Given the description of an element on the screen output the (x, y) to click on. 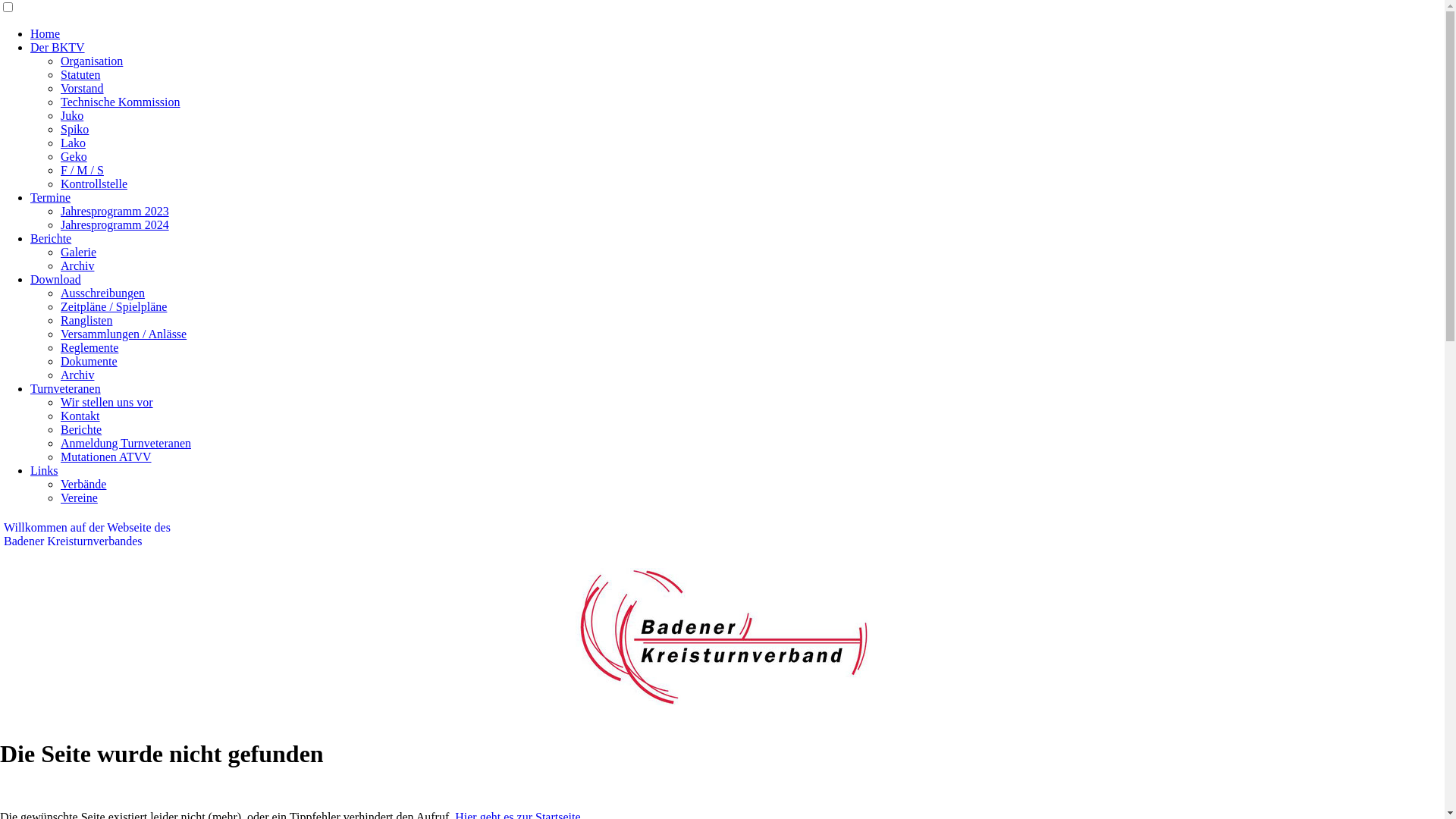
Vereine Element type: text (78, 497)
Anmeldung Turnveteranen Element type: text (125, 442)
Turnveteranen Element type: text (65, 388)
Berichte Element type: text (80, 429)
Technische Kommission Element type: text (120, 101)
Vorstand Element type: text (81, 87)
Organisation Element type: text (91, 60)
Jahresprogramm 2024 Element type: text (114, 224)
Kontrollstelle Element type: text (93, 183)
F / M / S Element type: text (81, 169)
Ranglisten Element type: text (86, 319)
Statuten Element type: text (80, 74)
Mutationen ATVV Element type: text (105, 456)
Spiko Element type: text (74, 128)
Reglemente Element type: text (89, 347)
Download Element type: text (55, 279)
Wir stellen uns vor Element type: text (106, 401)
Kontakt Element type: text (80, 415)
Dokumente Element type: text (88, 360)
Ausschreibungen Element type: text (102, 292)
Der BKTV Element type: text (57, 46)
Jahresprogramm 2023 Element type: text (114, 210)
Geko Element type: text (73, 156)
Archiv Element type: text (77, 265)
Lako Element type: text (72, 142)
Galerie Element type: text (78, 251)
Links Element type: text (43, 470)
Home Element type: text (44, 33)
Termine Element type: text (50, 197)
Juko Element type: text (71, 115)
Archiv Element type: text (77, 374)
Berichte Element type: text (50, 238)
Willkommen auf der Webseite des
Badener Kreisturnverbandes Element type: text (86, 533)
